Given the description of an element on the screen output the (x, y) to click on. 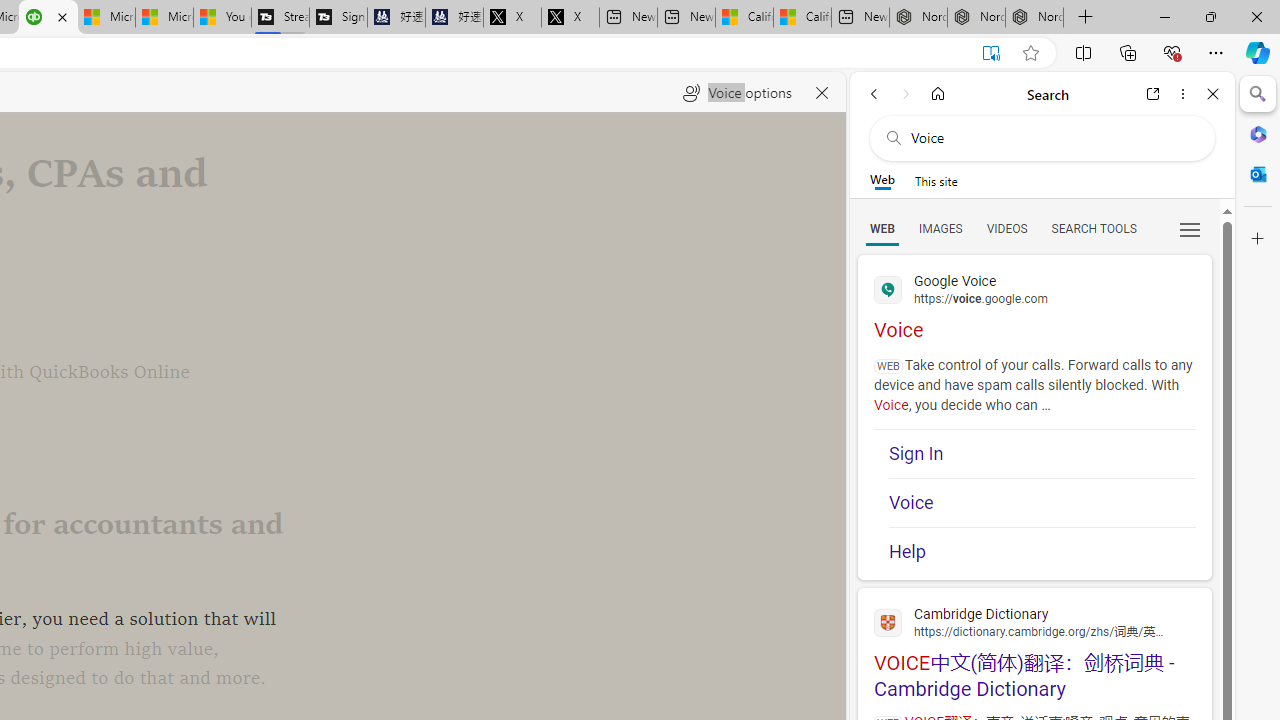
X (570, 17)
Voice (1042, 502)
Search Filter, IMAGES (939, 228)
Global web icon (888, 622)
Outlook (1258, 174)
Search Filter, VIDEOS (1006, 228)
Nordace - Siena Pro 15 Essential Set (1034, 17)
Help (1042, 545)
Nordace - Best Sellers (918, 17)
Search the web (1051, 137)
Search Filter, Search Tools (1093, 228)
Microsoft 365 (1258, 133)
